Given the description of an element on the screen output the (x, y) to click on. 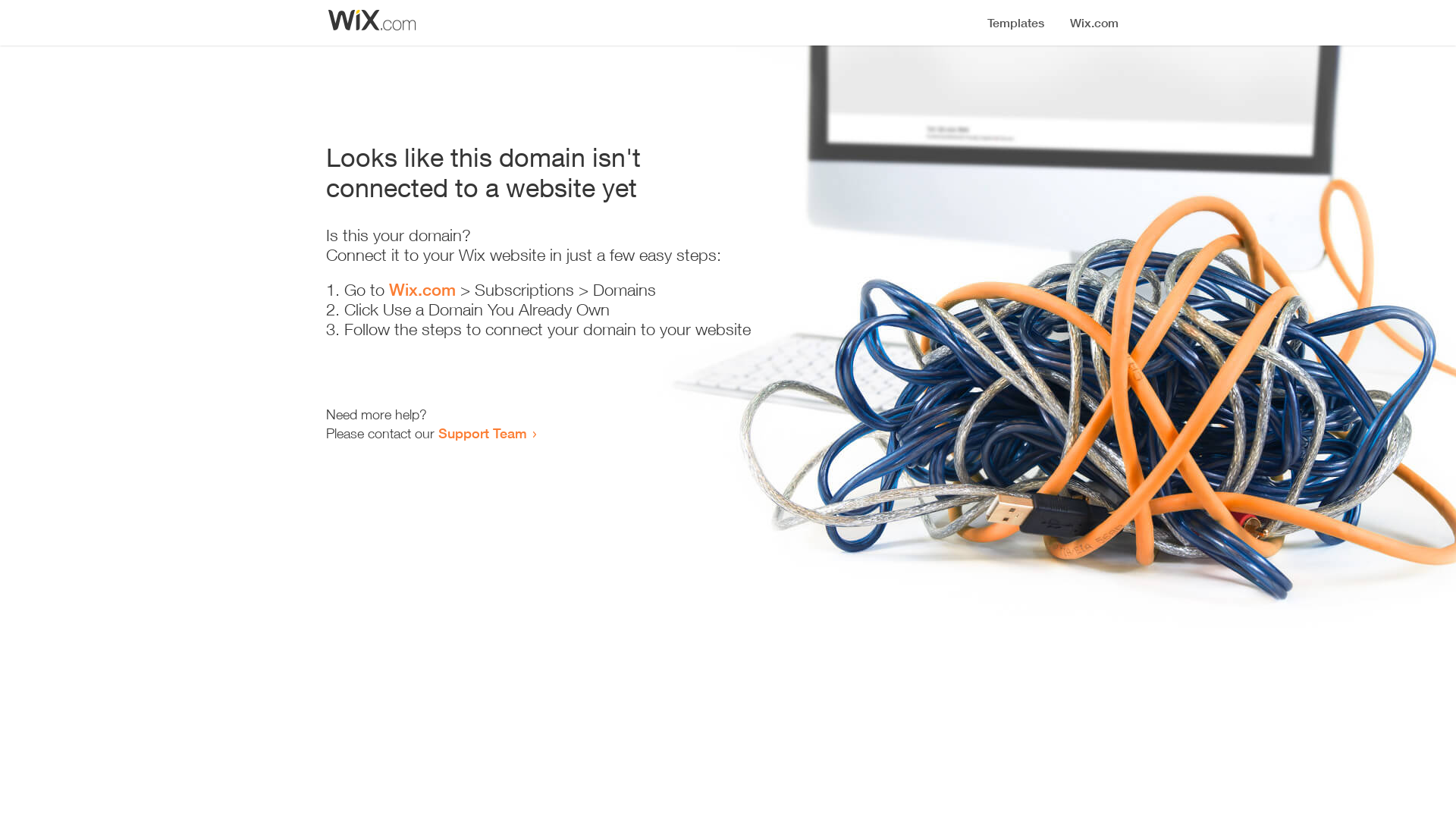
Support Team Element type: text (482, 432)
Wix.com Element type: text (422, 289)
